Given the description of an element on the screen output the (x, y) to click on. 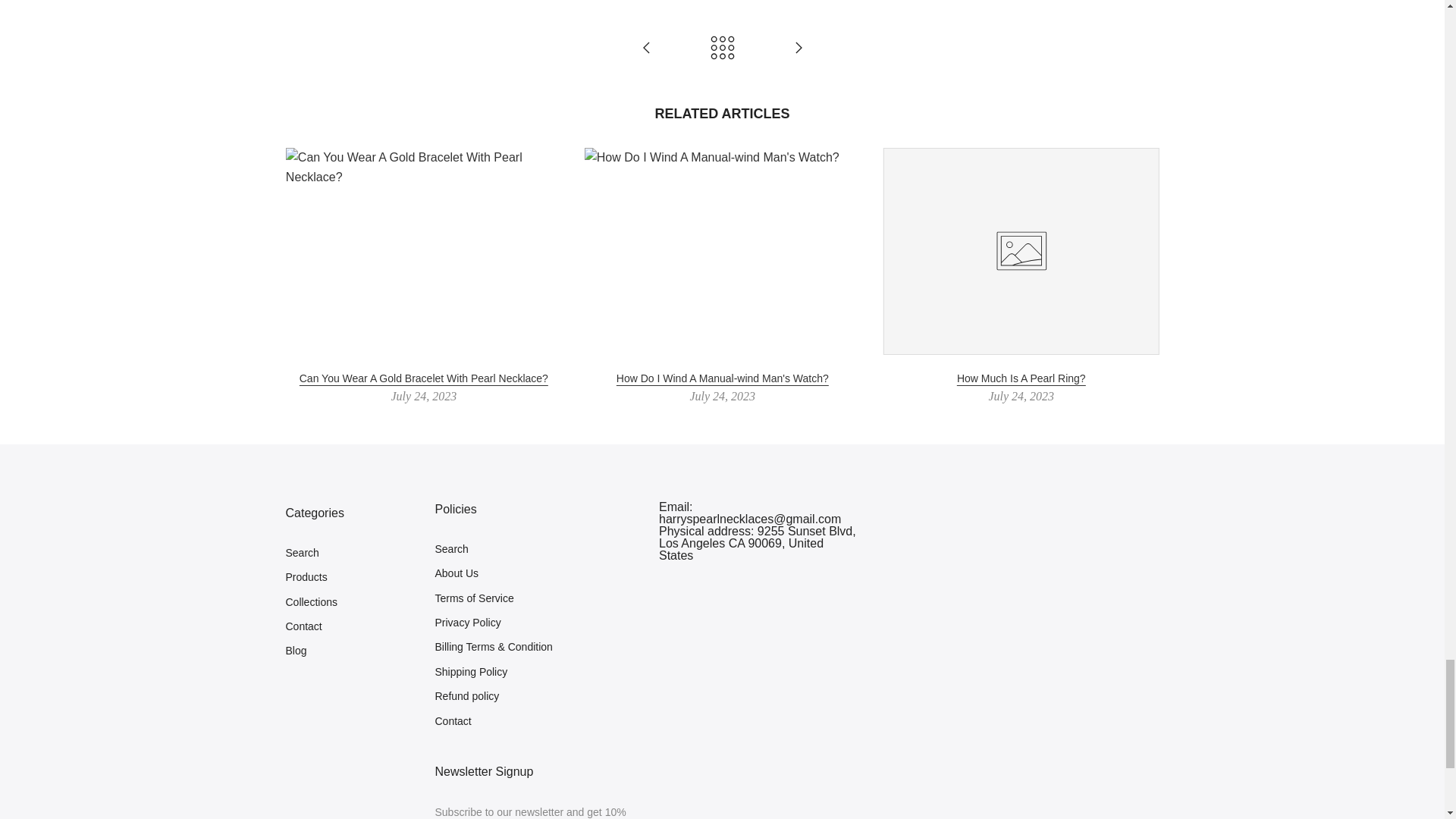
Collections (310, 602)
Products (305, 576)
Can Men's Initial Jewelry Be Repaired If Damaged? (797, 48)
How Do I Wind A Manual-wind Man's Watch? (721, 378)
How Much Is A Pearl Ring? (1020, 378)
Can You Wear A Gold Bracelet With Pearl Necklace? (422, 378)
Search (301, 552)
Back to Blog (722, 48)
Do Cufflinks Have A Specific Shape Or Design? (646, 48)
